Given the description of an element on the screen output the (x, y) to click on. 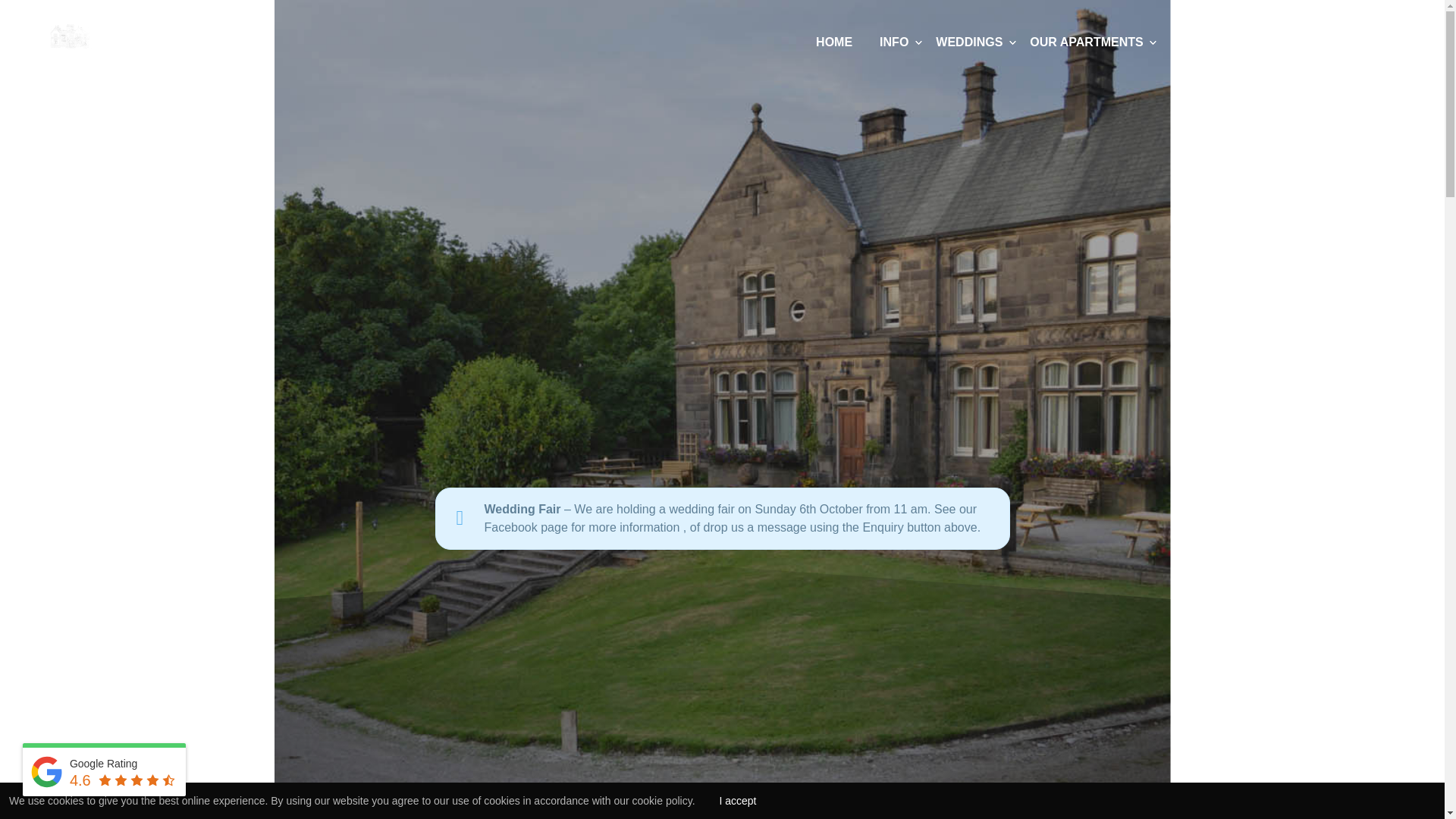
Weddings (968, 42)
Home (832, 42)
 HOME (832, 42)
WEDDINGS (968, 42)
Info (893, 42)
INFO (893, 42)
HOLIDAYS (1201, 42)
OUR APARTMENTS (1085, 42)
